Given the description of an element on the screen output the (x, y) to click on. 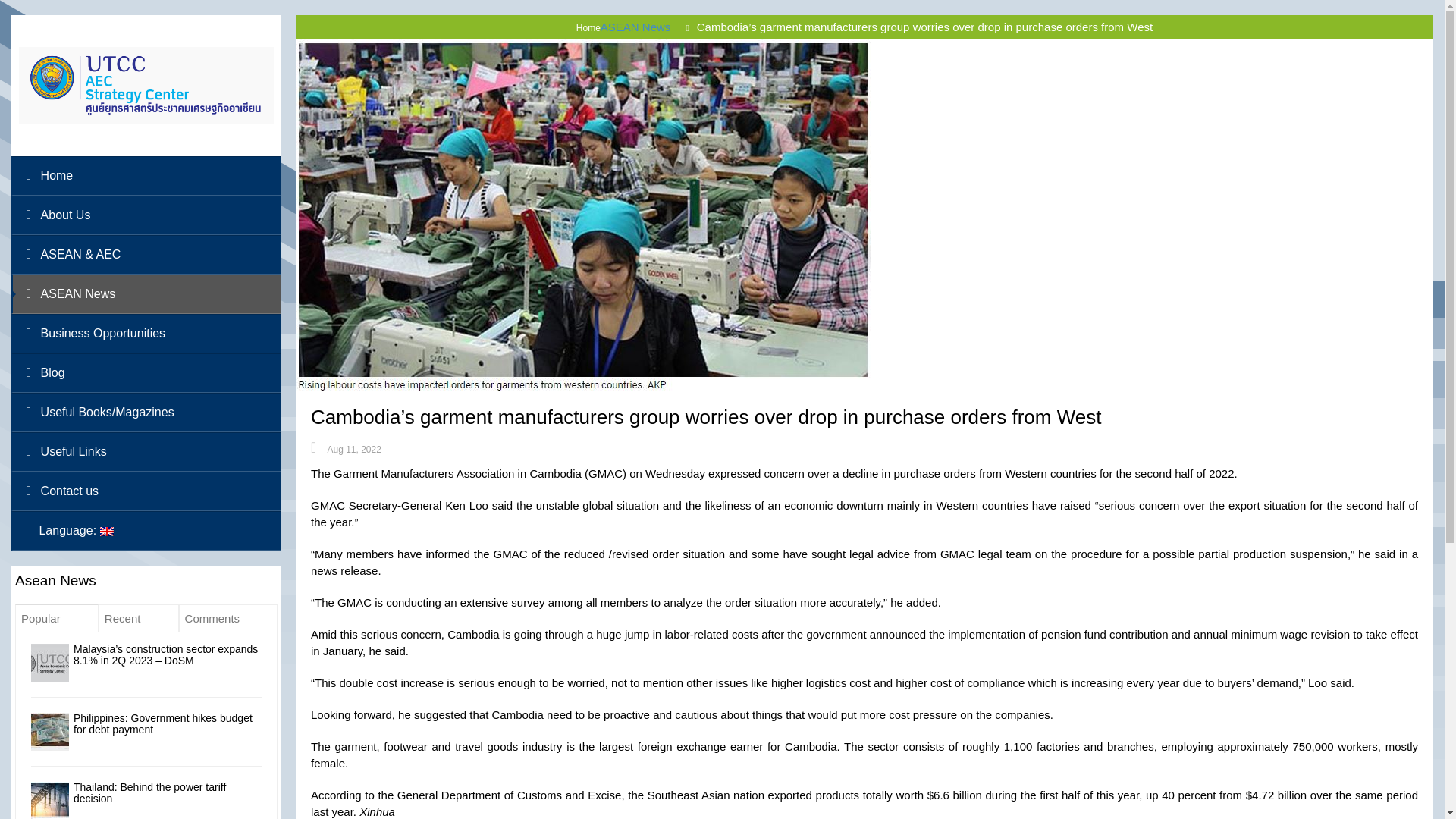
Business Opportunities (146, 332)
About Us (146, 215)
Blog (146, 372)
ASEAN News (146, 293)
Home (146, 175)
Home (146, 175)
About Us (146, 215)
